Given the description of an element on the screen output the (x, y) to click on. 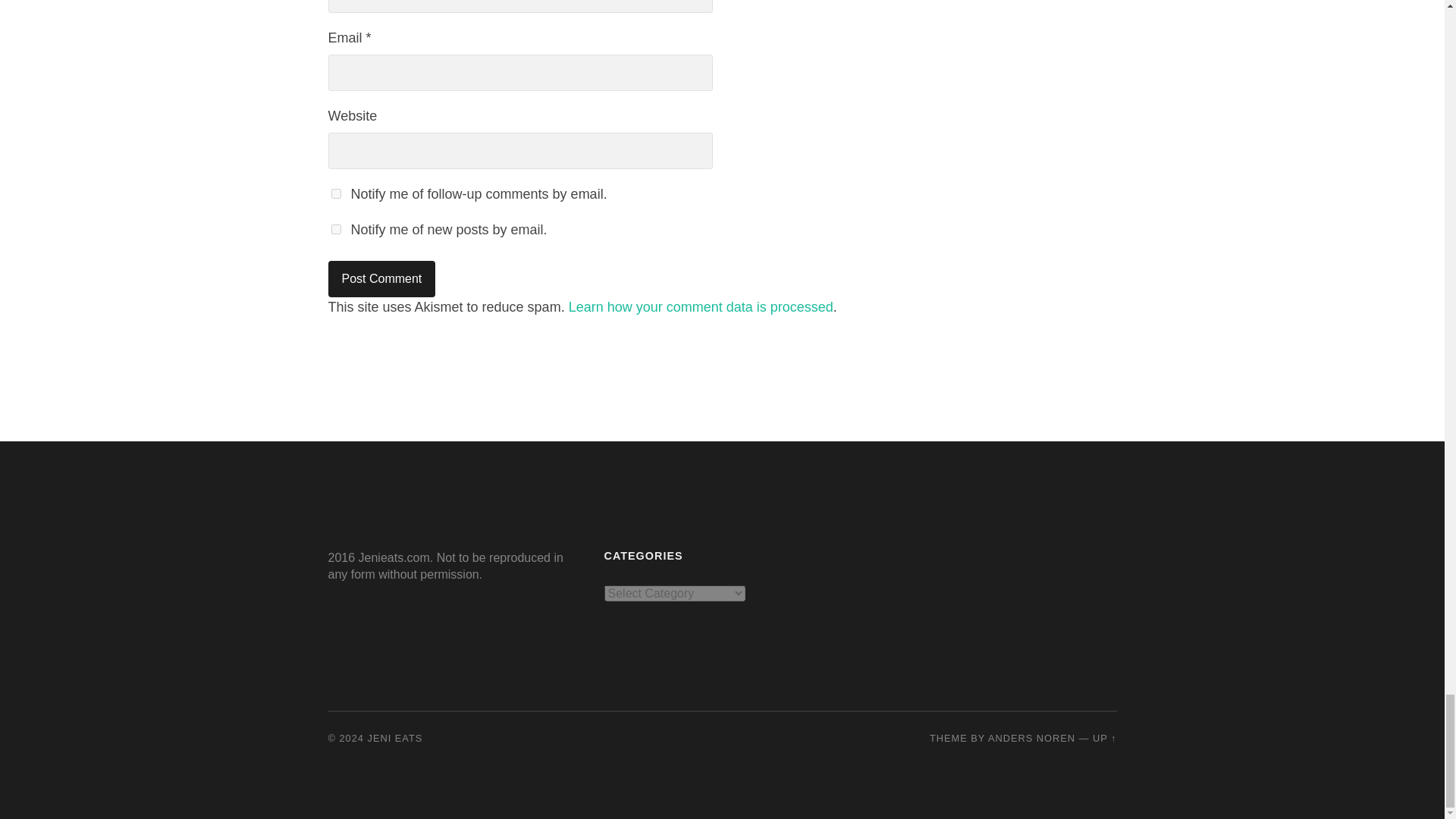
subscribe (335, 229)
subscribe (335, 194)
Post Comment (381, 279)
